Given the description of an element on the screen output the (x, y) to click on. 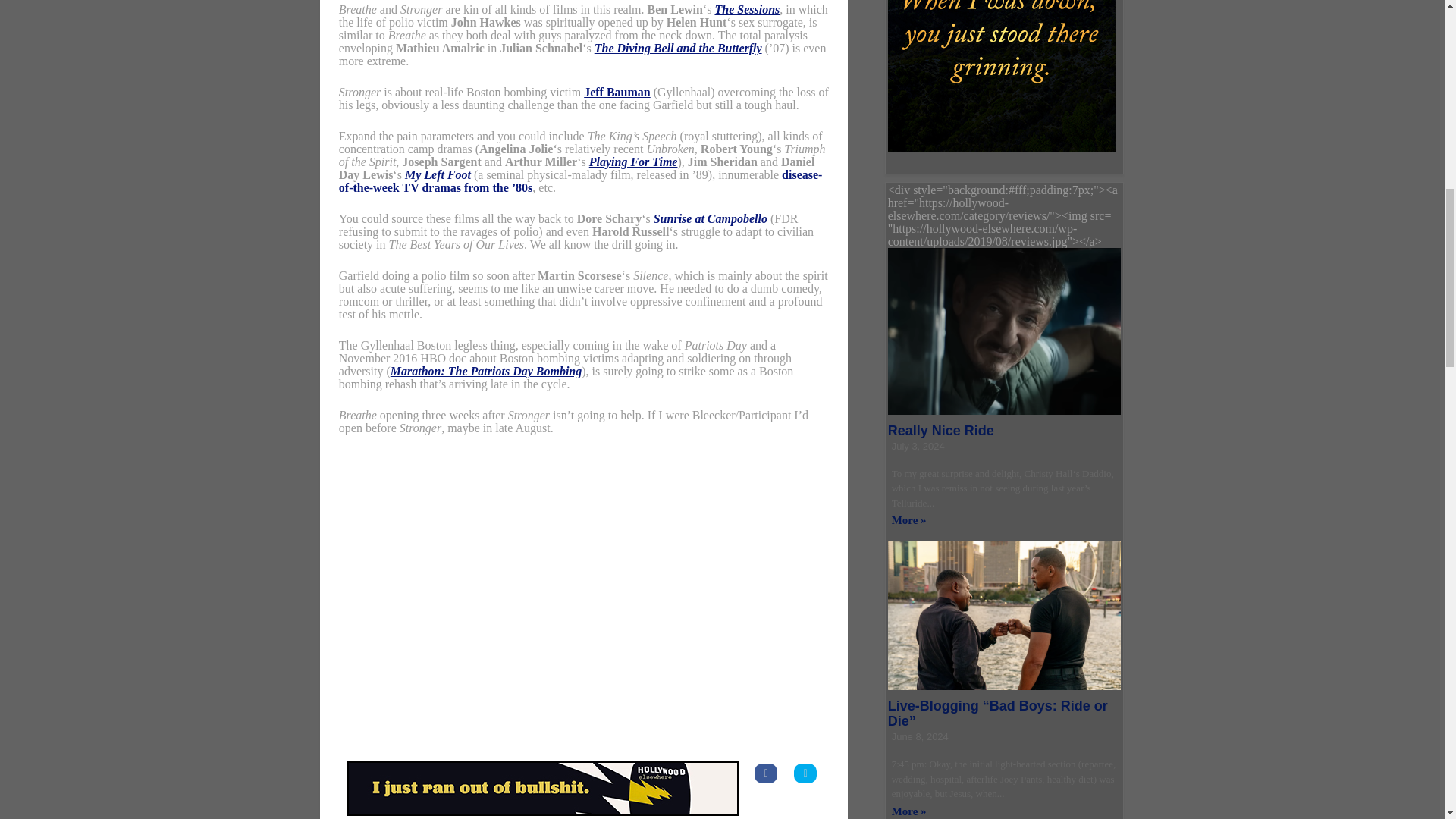
The Sessions (746, 9)
Sunrise at Campobello (710, 218)
My Left Foot (437, 174)
Marathon: The Patriots Day Bombing (485, 370)
The Diving Bell and the Butterfly (677, 47)
Playing For Time (633, 161)
Jeff Bauman (616, 91)
